Given the description of an element on the screen output the (x, y) to click on. 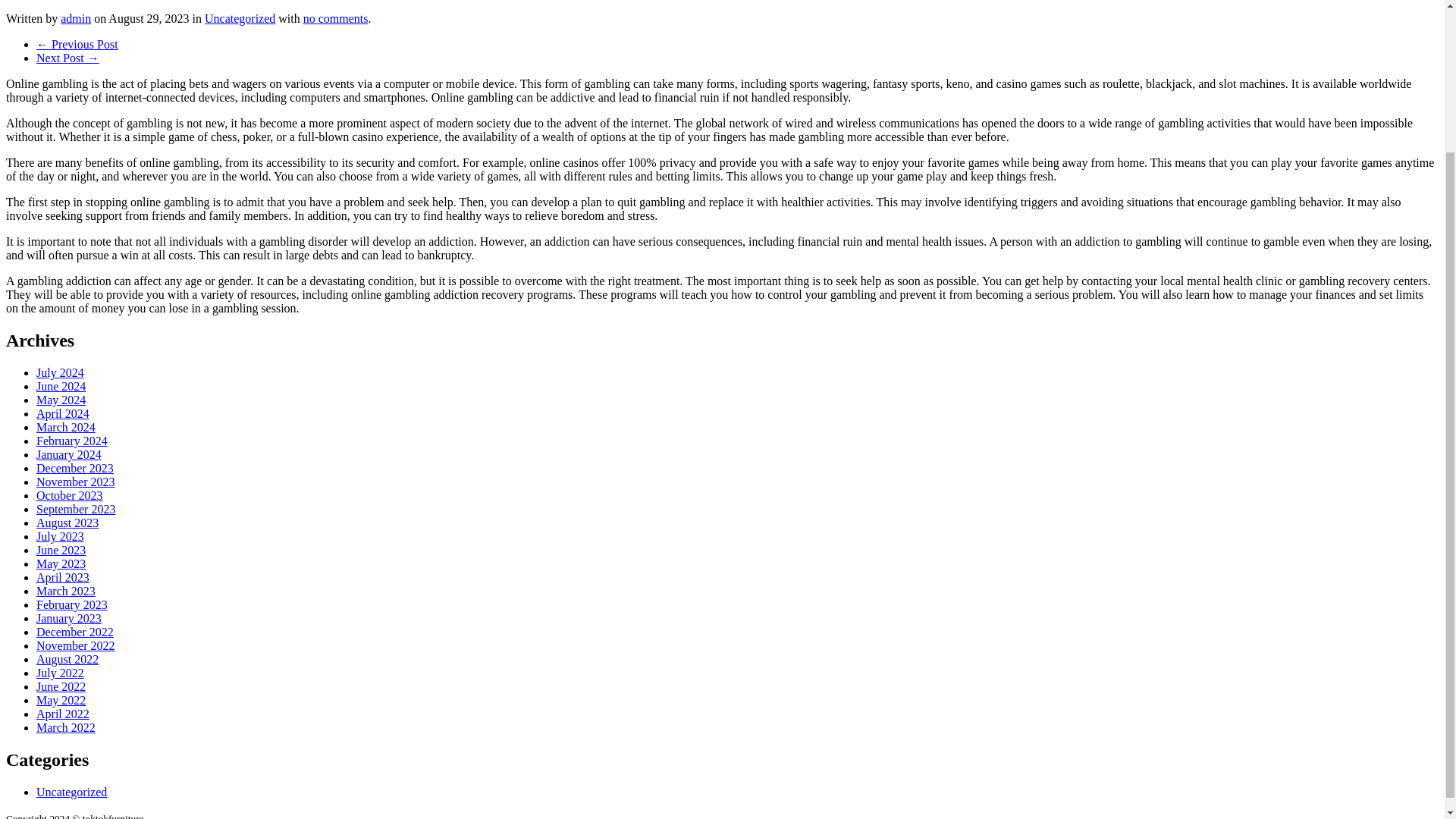
July 2022 (60, 672)
March 2023 (66, 590)
December 2023 (74, 468)
August 2022 (67, 658)
October 2023 (69, 495)
February 2024 (71, 440)
November 2022 (75, 645)
no comments (335, 18)
no comments (335, 18)
June 2023 (60, 549)
May 2023 (60, 563)
April 2024 (62, 413)
April 2023 (62, 576)
March 2024 (66, 427)
February 2023 (71, 604)
